Given the description of an element on the screen output the (x, y) to click on. 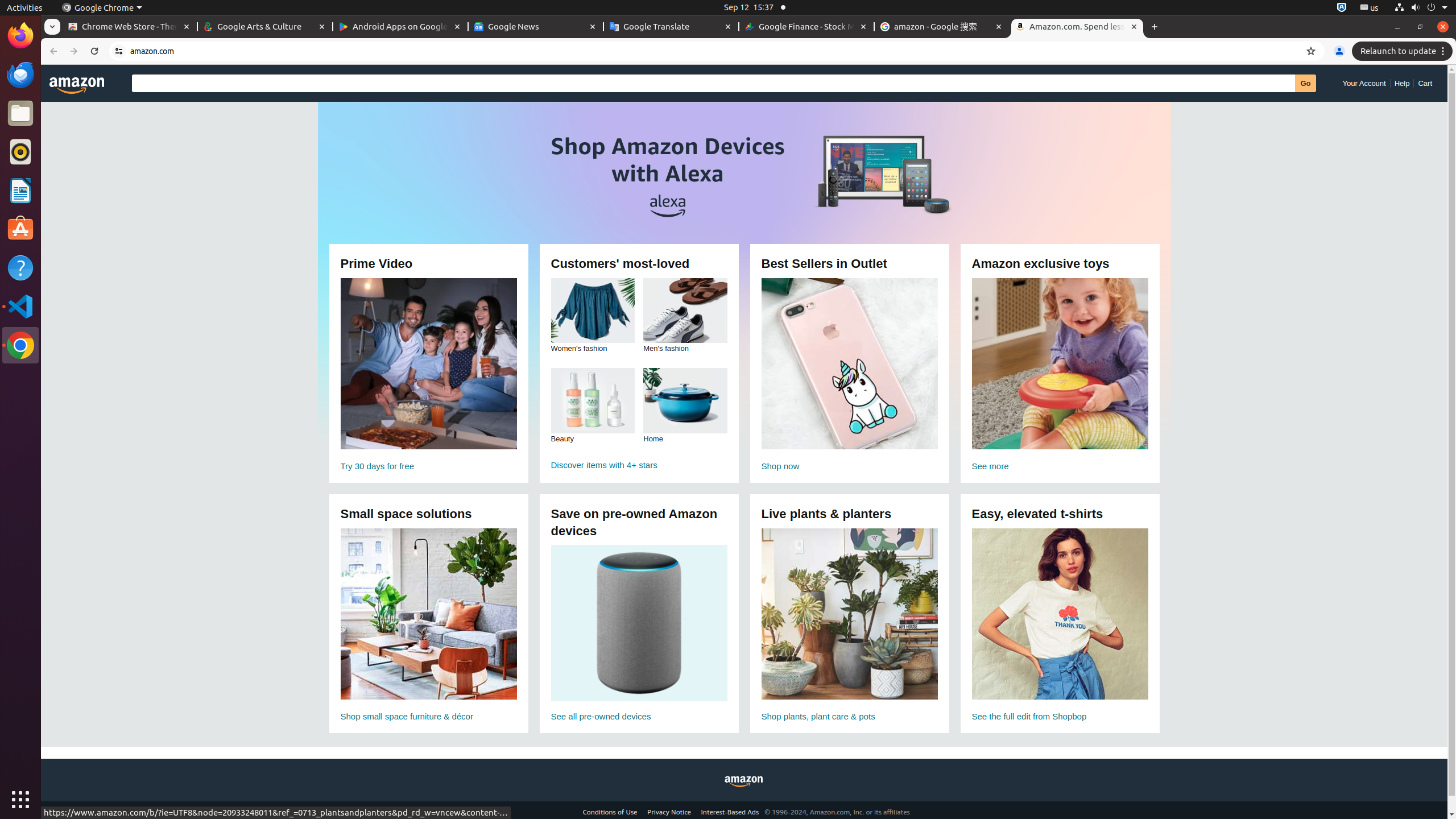
System Element type: menu (1420, 7)
Amazon Element type: link (743, 785)
Firefox Web Browser Element type: push-button (20, 35)
Back Element type: push-button (51, 50)
Rhythmbox Element type: push-button (20, 151)
